Given the description of an element on the screen output the (x, y) to click on. 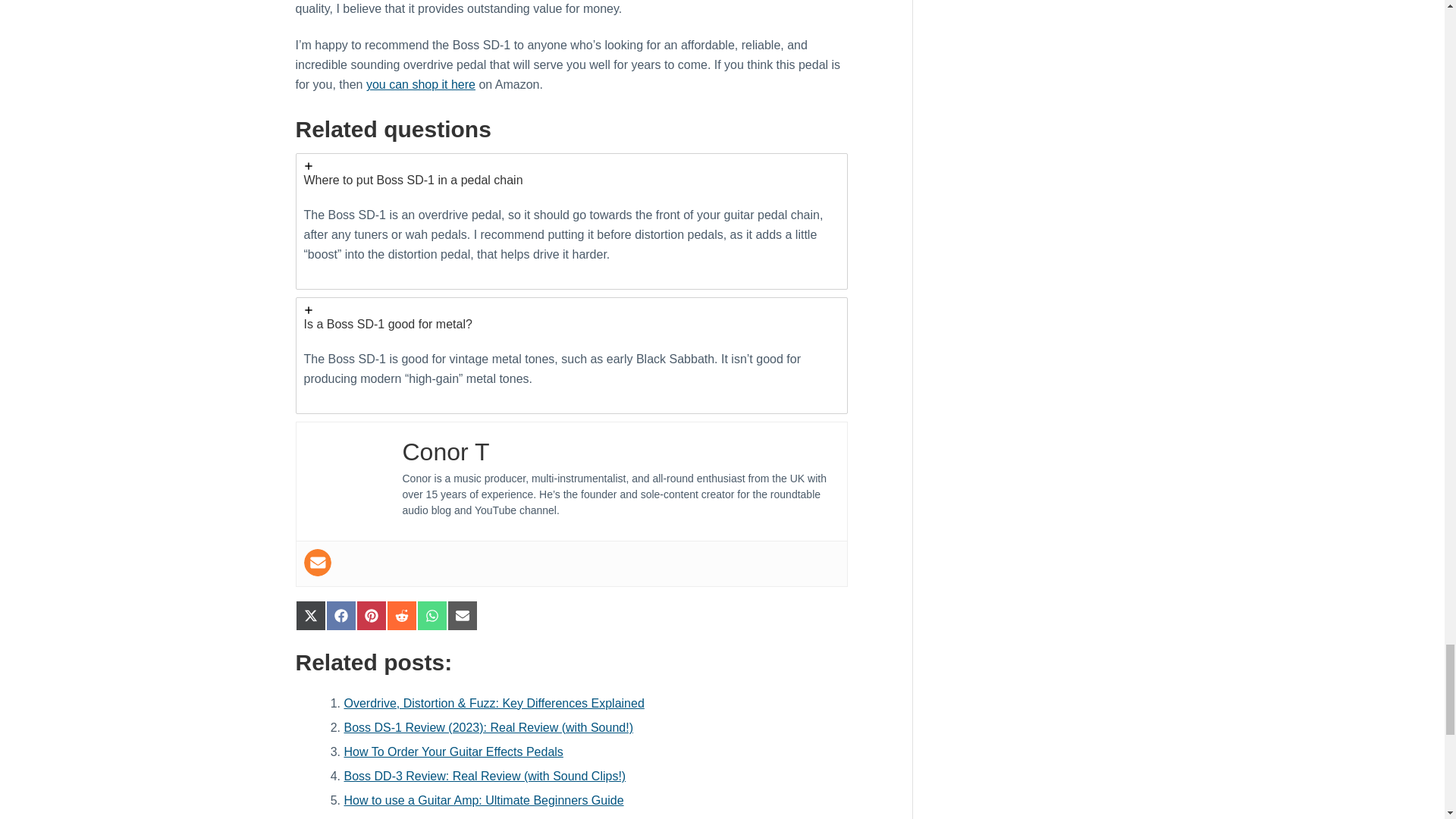
Share on Pinterest (371, 615)
Share on Reddit (401, 615)
How to use a Guitar Amp: Ultimate Beginners Guide (483, 799)
Conor T (445, 452)
Share on Facebook (341, 615)
How To Order Your Guitar Effects Pedals (453, 751)
you can shop it here (421, 83)
User email (316, 562)
